Given the description of an element on the screen output the (x, y) to click on. 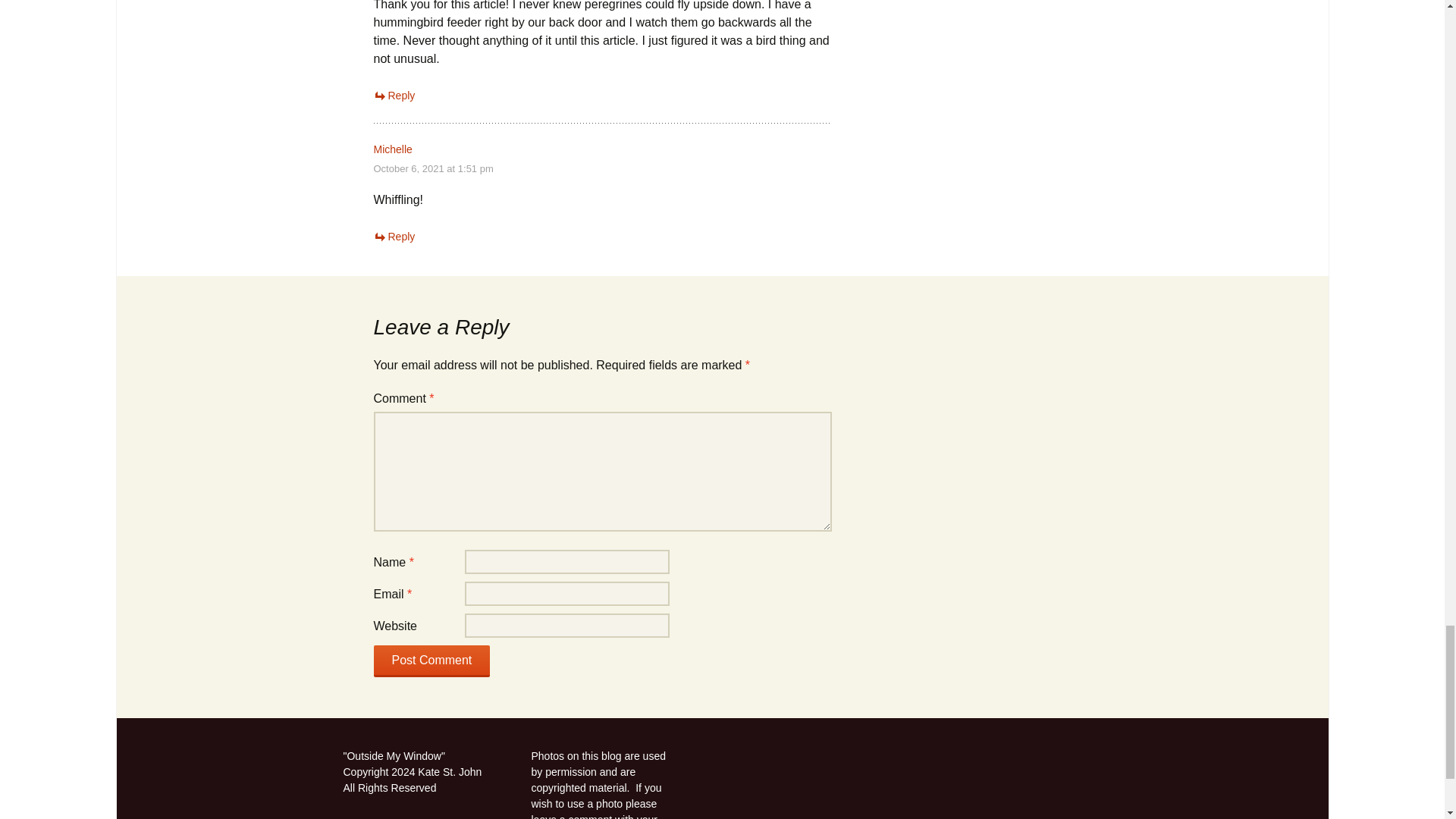
Post Comment (430, 661)
October 6, 2021 at 1:51 pm (432, 168)
Reply (393, 95)
Reply (393, 236)
Post Comment (430, 661)
